Given the description of an element on the screen output the (x, y) to click on. 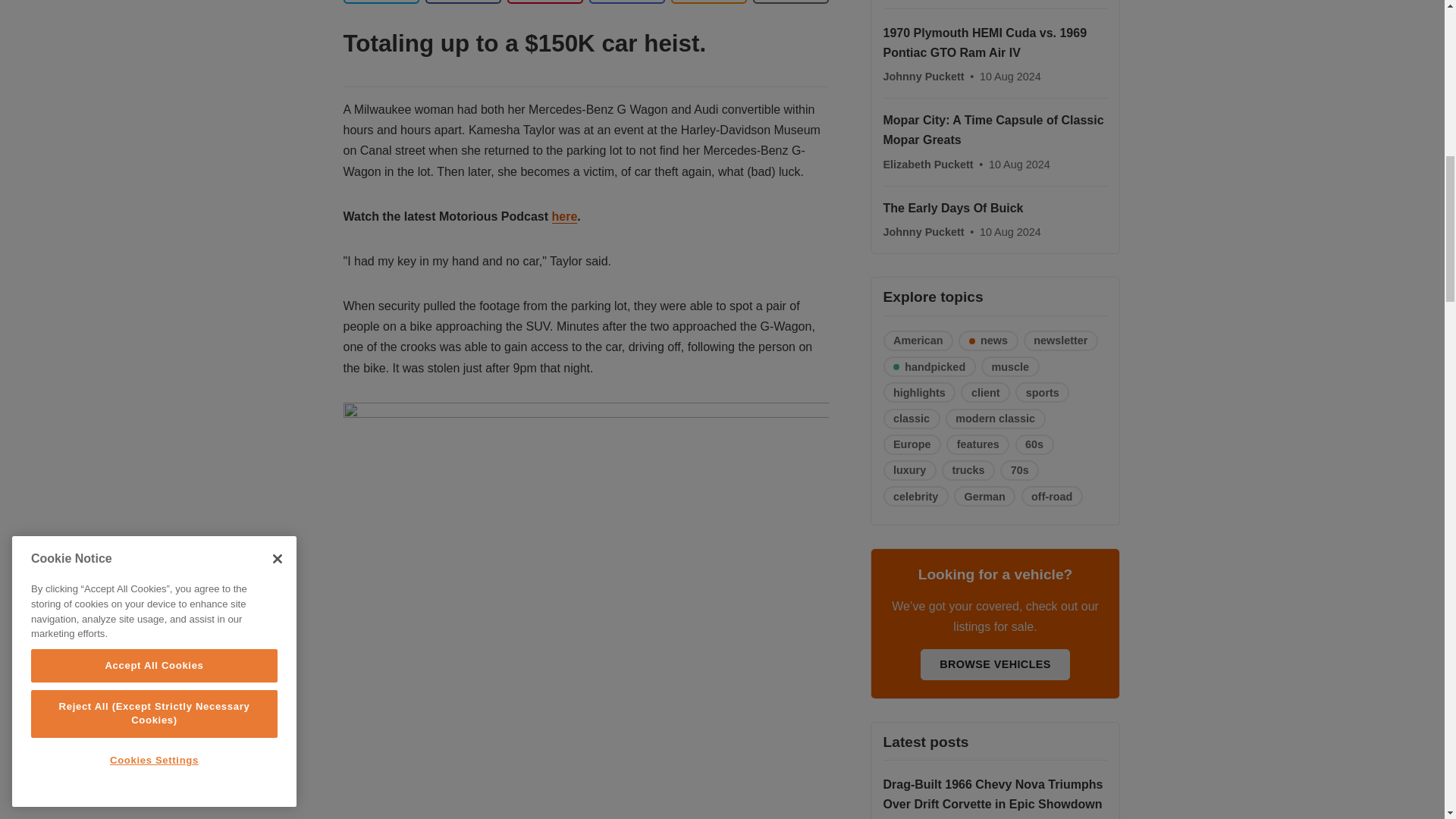
Johnny Puckett (924, 76)
1970 Plymouth HEMI Cuda vs. 1969 Pontiac GTO Ram Air IV (984, 42)
American (917, 340)
Copy to clipboard (707, 1)
Share on Facebook (462, 1)
Share on Twitter (380, 1)
Johnny Puckett (924, 232)
here (564, 216)
Share on Linkedin (544, 1)
Share by email (625, 1)
